Given the description of an element on the screen output the (x, y) to click on. 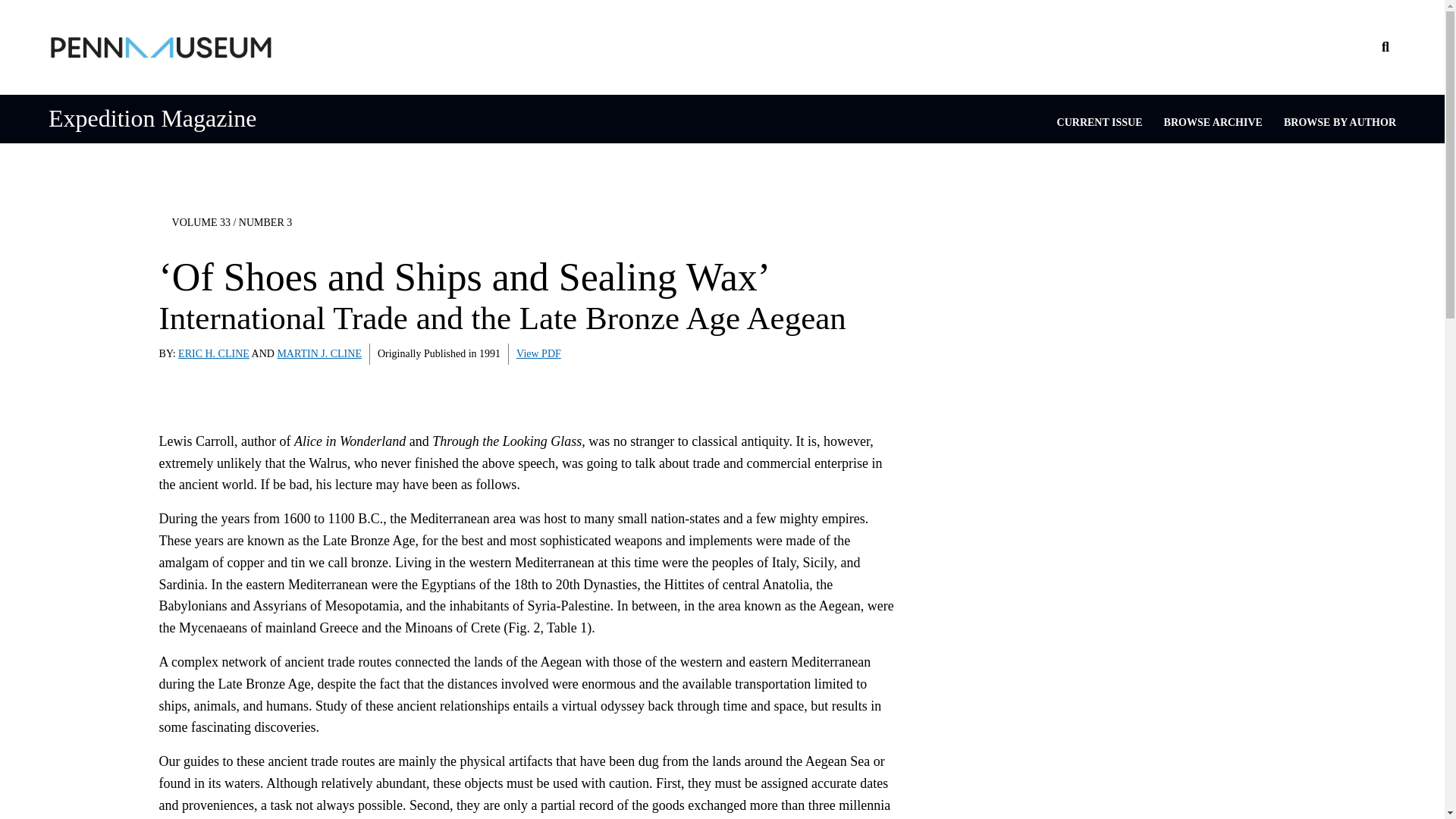
BROWSE ARCHIVE (1212, 122)
MARTIN J. CLINE (318, 353)
ERIC H. CLINE (212, 353)
View PDF (538, 353)
BROWSE BY AUTHOR (1340, 122)
CURRENT ISSUE (1099, 122)
Expedition Magazine (152, 117)
